Given the description of an element on the screen output the (x, y) to click on. 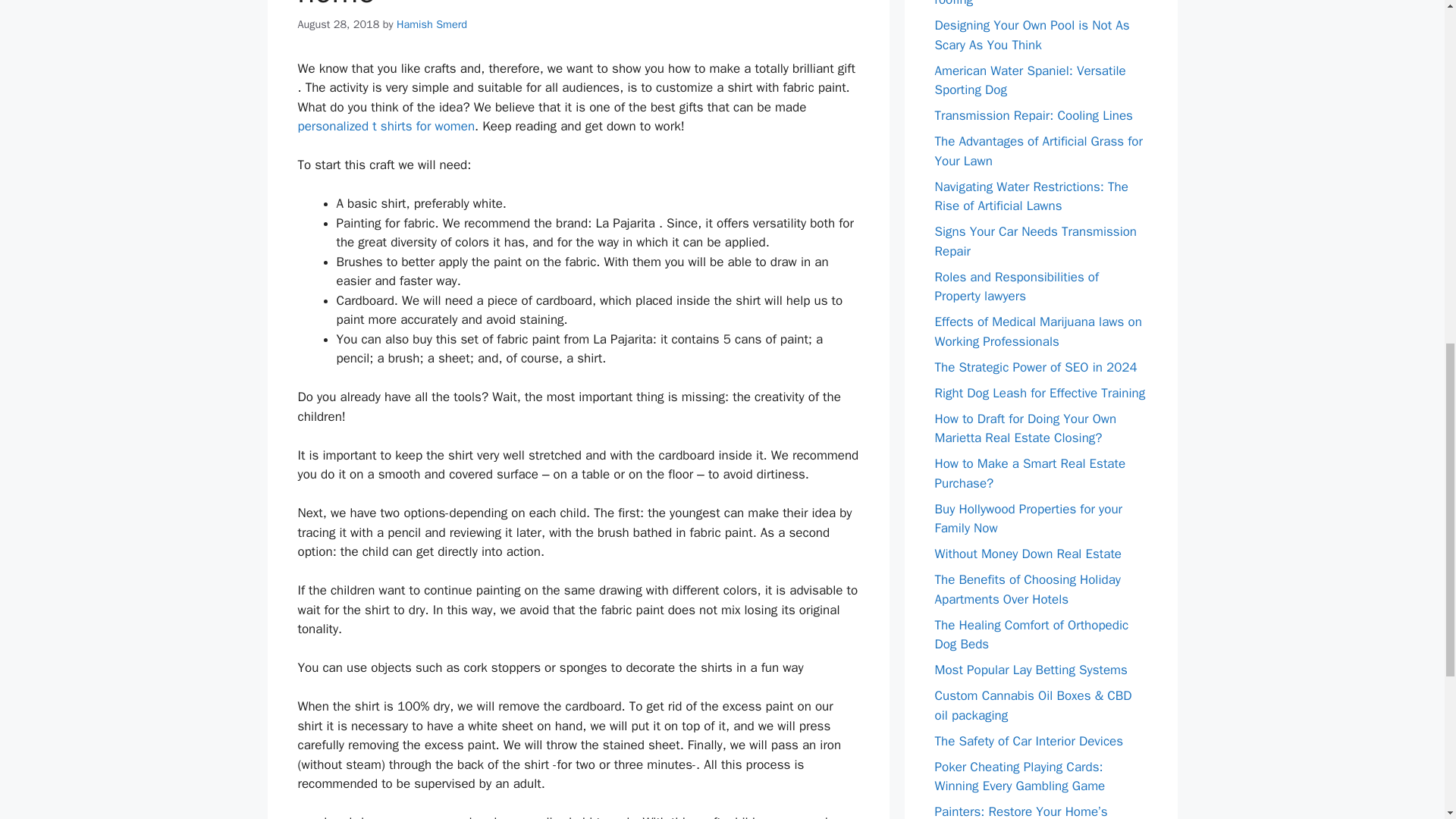
How to Make a Smart Real Estate Purchase? (1029, 473)
Buy Hollywood Properties for your Family Now (1028, 518)
The Healing Comfort of Orthopedic Dog Beds (1031, 634)
Without Money Down Real Estate (1027, 553)
Navigating Water Restrictions: The Rise of Artificial Lawns (1030, 196)
personalized t shirts for women (385, 125)
American Water Spaniel: Versatile Sporting Dog (1029, 79)
The Strategic Power of SEO in 2024 (1035, 367)
Signs Your Car Needs Transmission Repair (1035, 241)
Most Popular Lay Betting Systems (1030, 669)
The Advantages of Artificial Grass for Your Lawn (1037, 150)
Hamish Smerd (431, 24)
Poker Cheating Playing Cards: Winning Every Gambling Game (1019, 775)
The Safety of Car Interior Devices (1028, 740)
